Given the description of an element on the screen output the (x, y) to click on. 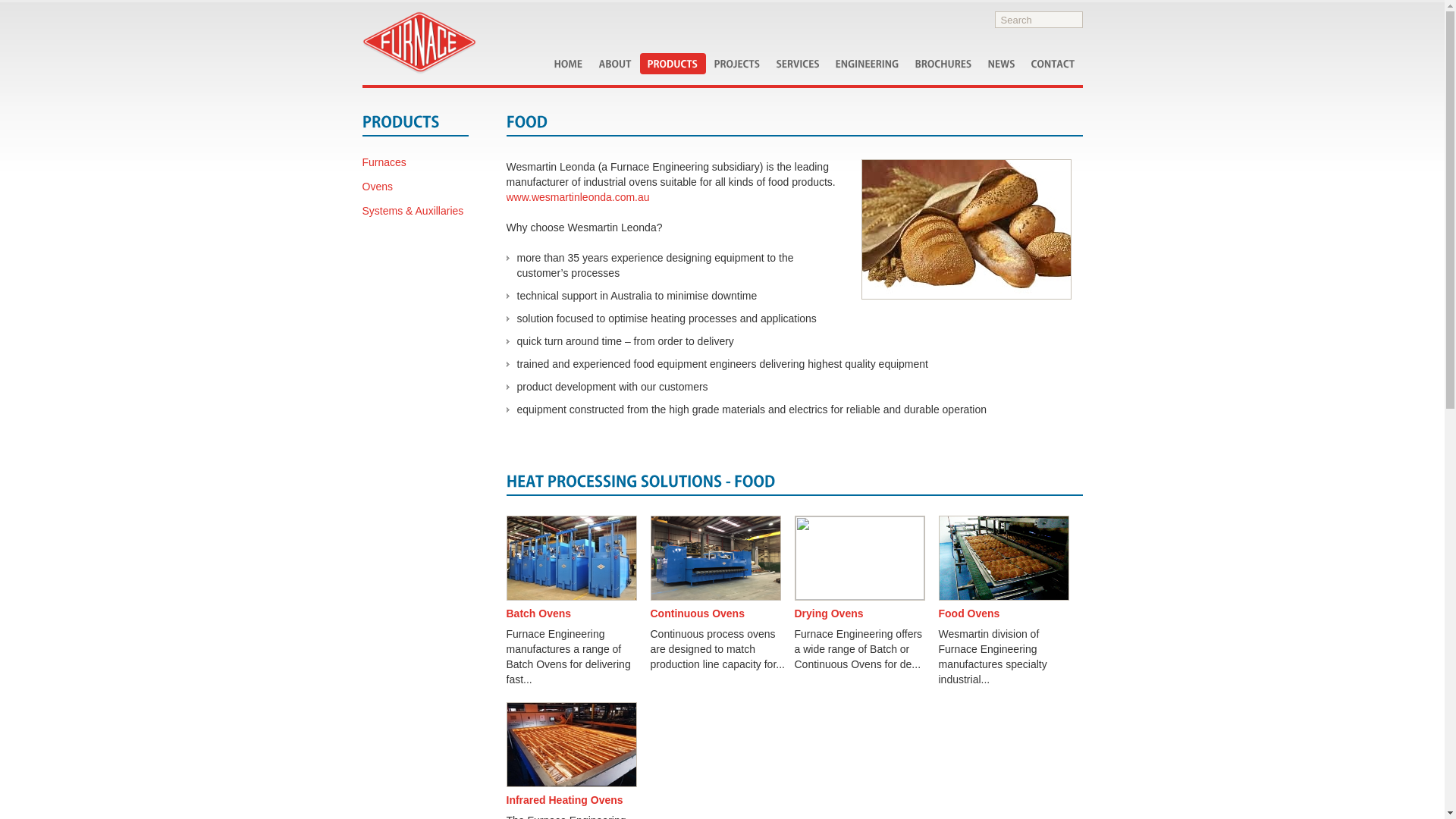
Food Ovens Element type: text (1006, 569)
Ovens Element type: text (415, 186)
www.wesmartinleonda.com.au Element type: text (577, 197)
Continuous Ovens Element type: text (718, 569)
Drying Ovens Element type: text (862, 569)
Furnaces Element type: text (415, 161)
Systems & Auxillaries Element type: text (415, 210)
Infrared Heating Ovens Element type: text (574, 755)
Furnace Engineering Element type: text (419, 42)
Batch Ovens Element type: text (574, 569)
